Given the description of an element on the screen output the (x, y) to click on. 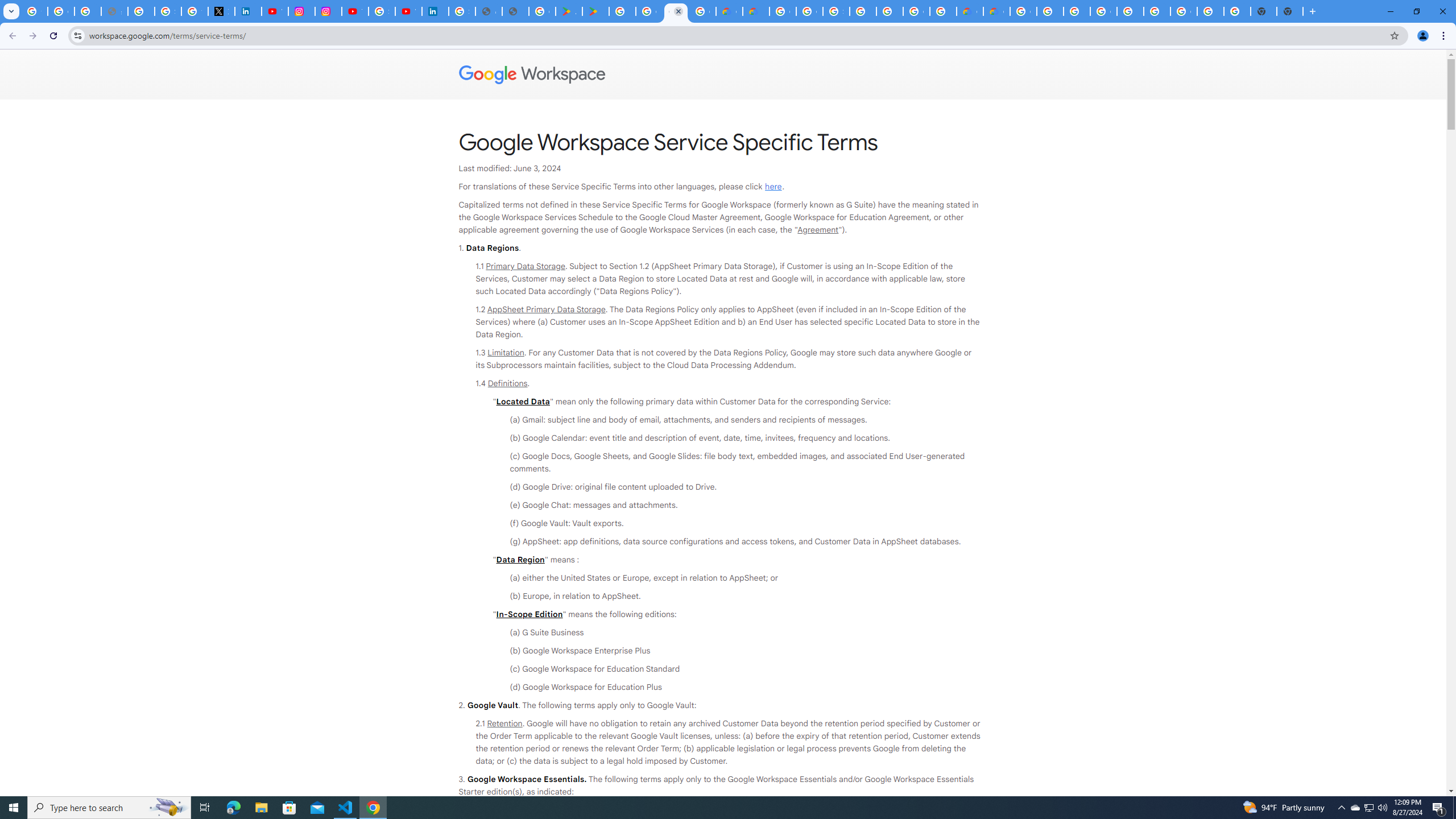
Google Workspace (723, 74)
Customer Care | Google Cloud (970, 11)
Android Apps on Google Play (569, 11)
LinkedIn Privacy Policy (248, 11)
Sign in - Google Accounts (167, 11)
Google Cloud Platform (1183, 11)
Privacy Help Center - Policies Help (141, 11)
